Given the description of an element on the screen output the (x, y) to click on. 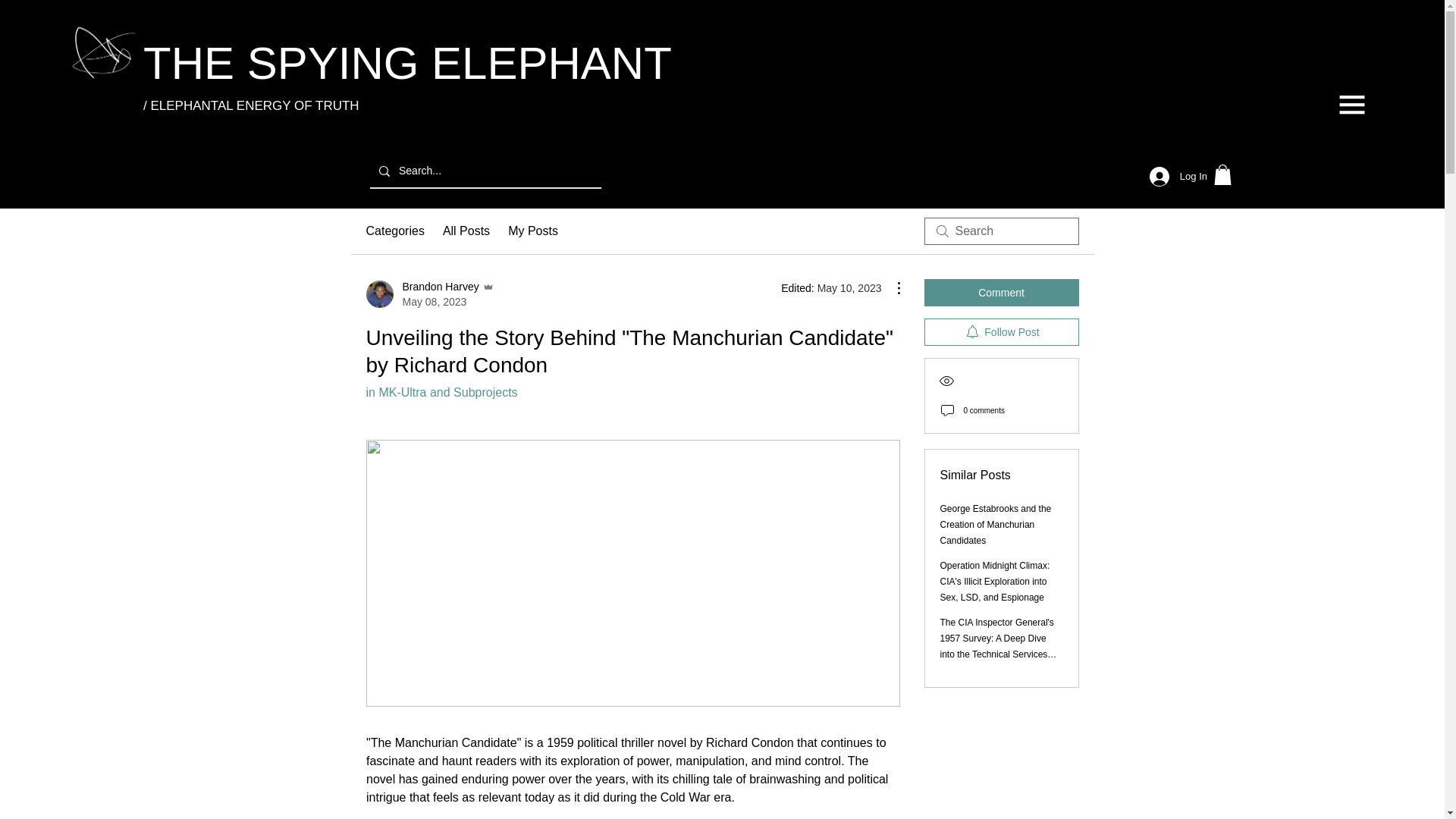
THE SPYING ELEPHANT (406, 63)
George Estabrooks and the Creation of Manchurian Candidates (995, 524)
Categories (394, 230)
My Posts (532, 230)
Follow Post (1000, 331)
Log In (1177, 176)
All Posts (429, 294)
in MK-Ultra and Subprojects (465, 230)
Comment (440, 391)
